Given the description of an element on the screen output the (x, y) to click on. 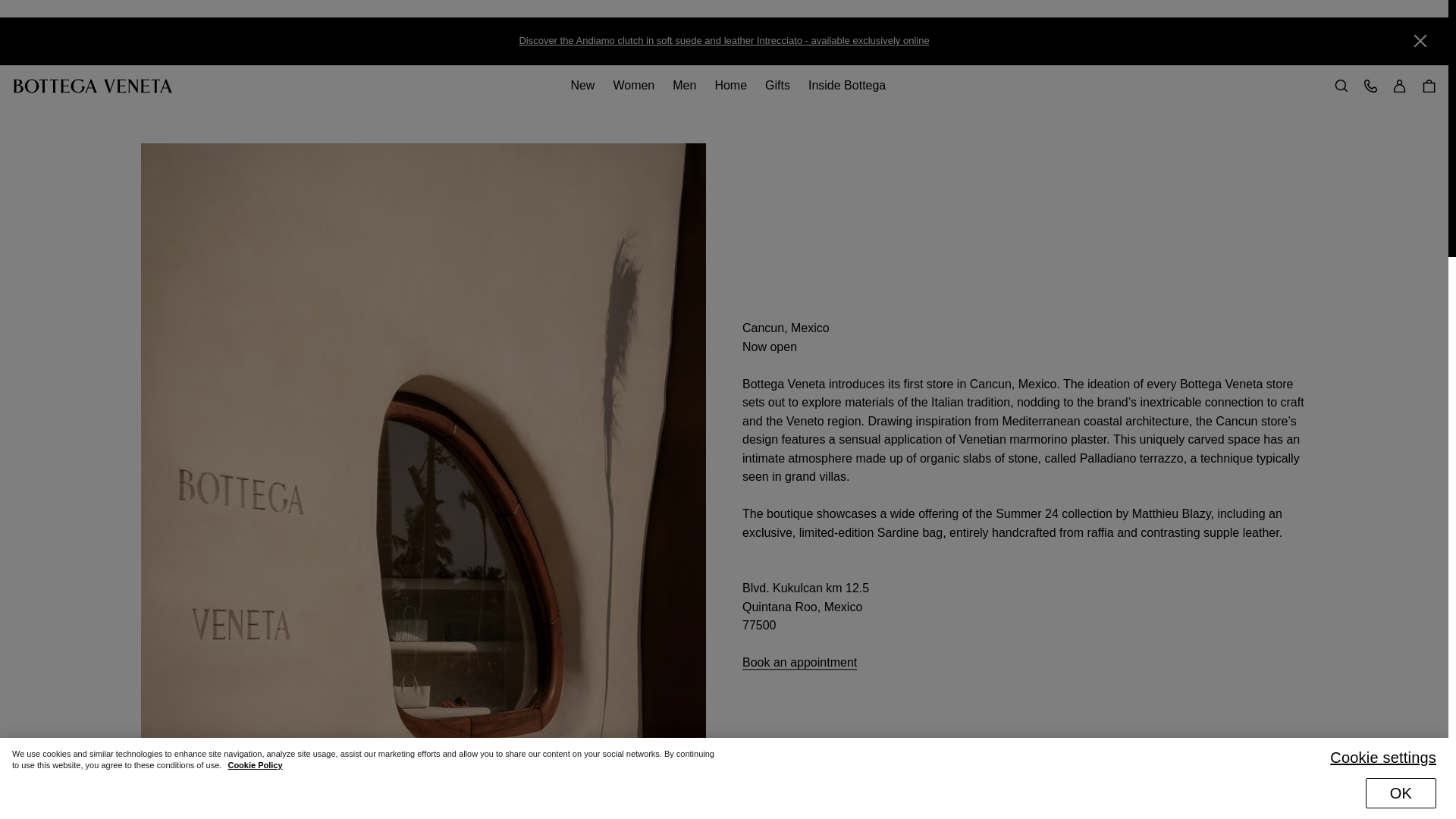
Close (1429, 40)
Close (1420, 40)
New (582, 84)
View Cart (1428, 85)
